Given the description of an element on the screen output the (x, y) to click on. 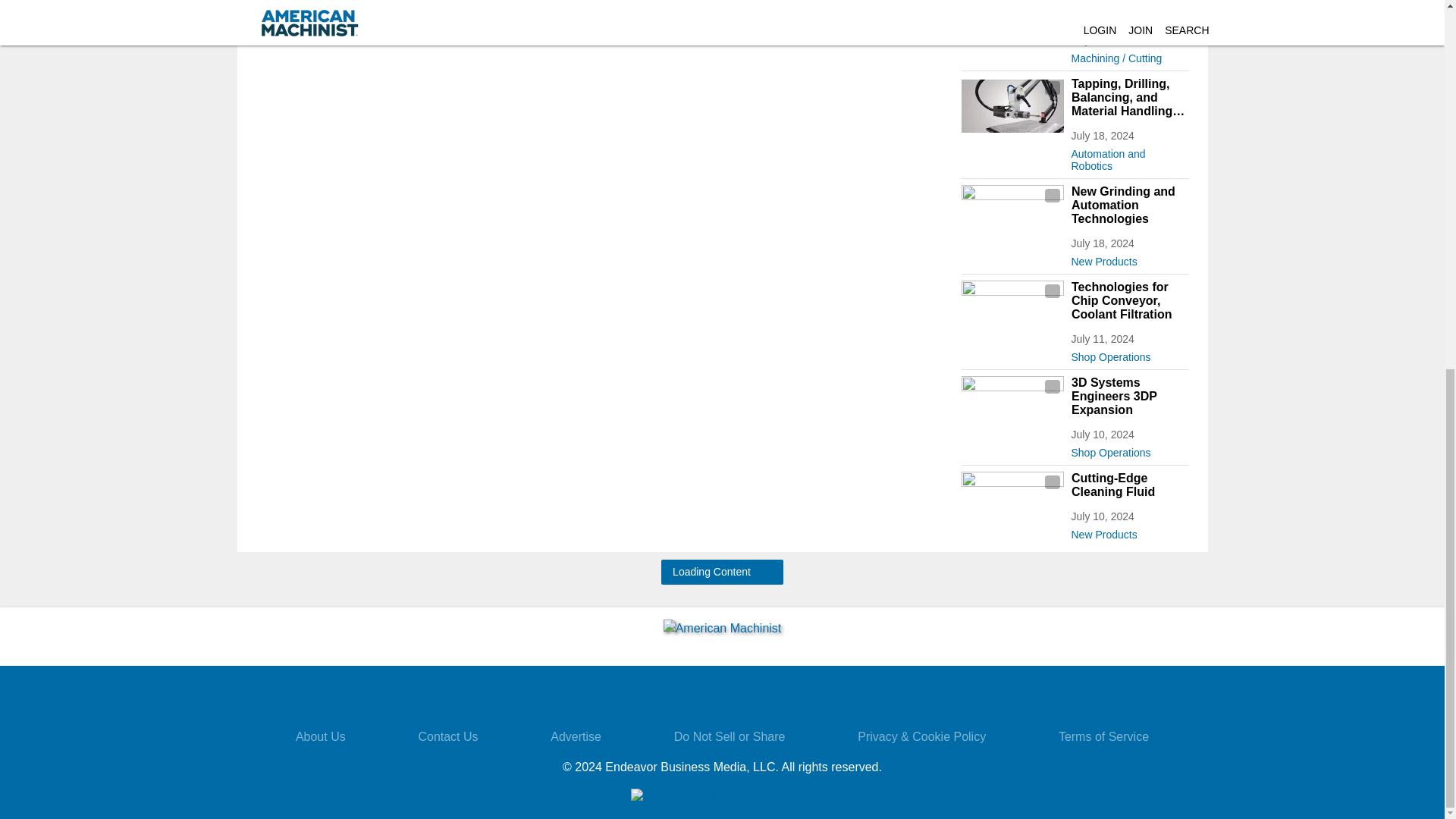
Tapping, Drilling, Balancing, and Material Handling Arms (1129, 96)
New Products (1129, 258)
Shop Operations (1129, 353)
New Grinding and Automation Technologies (1129, 205)
Three Workholding Tools to Streamline Machining (1129, 11)
Automation and Robotics (1129, 156)
